Given the description of an element on the screen output the (x, y) to click on. 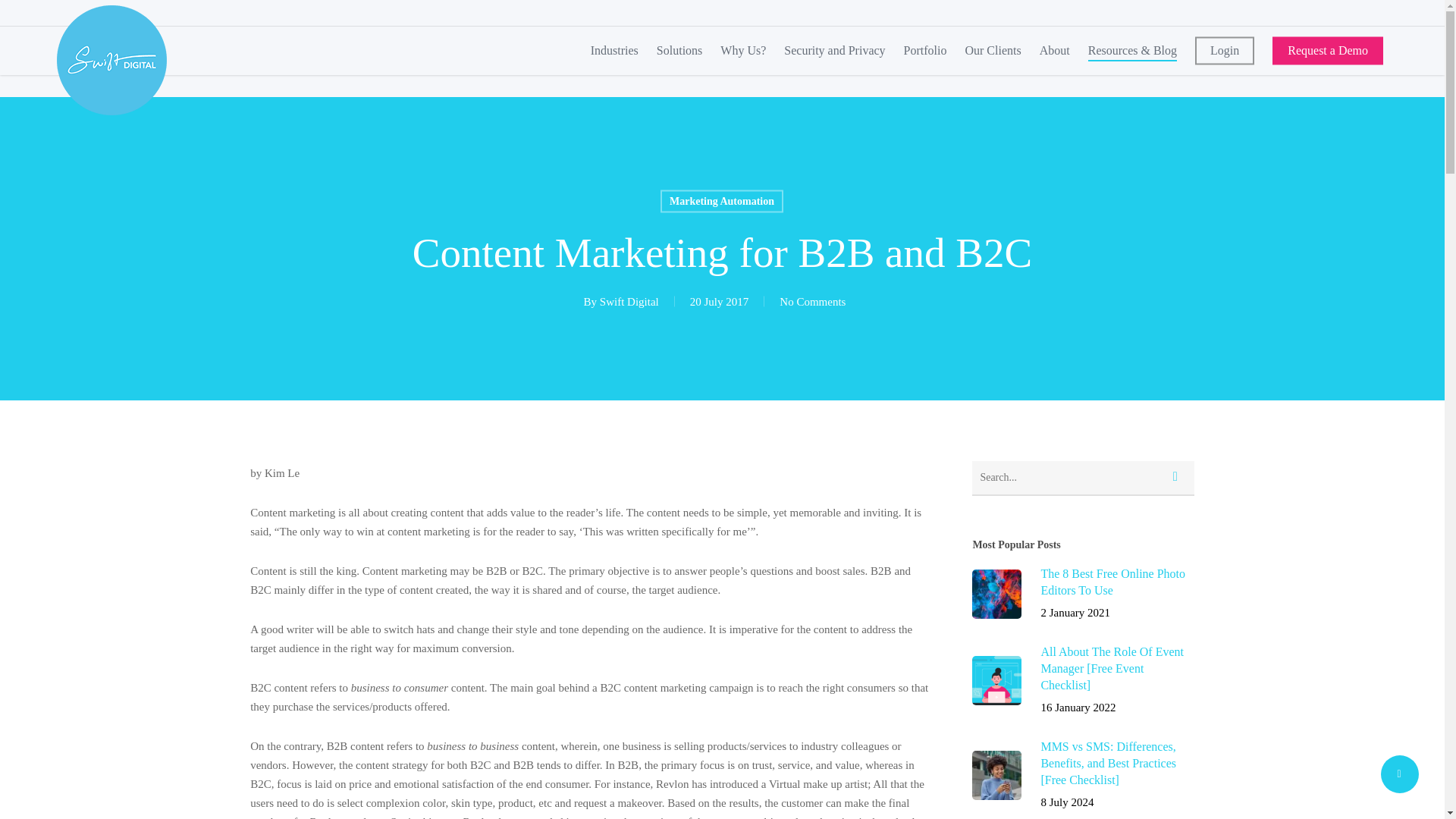
Posts by Swift Digital (629, 301)
Search for: (1082, 478)
Solutions (678, 50)
Industries (615, 50)
